Given the description of an element on the screen output the (x, y) to click on. 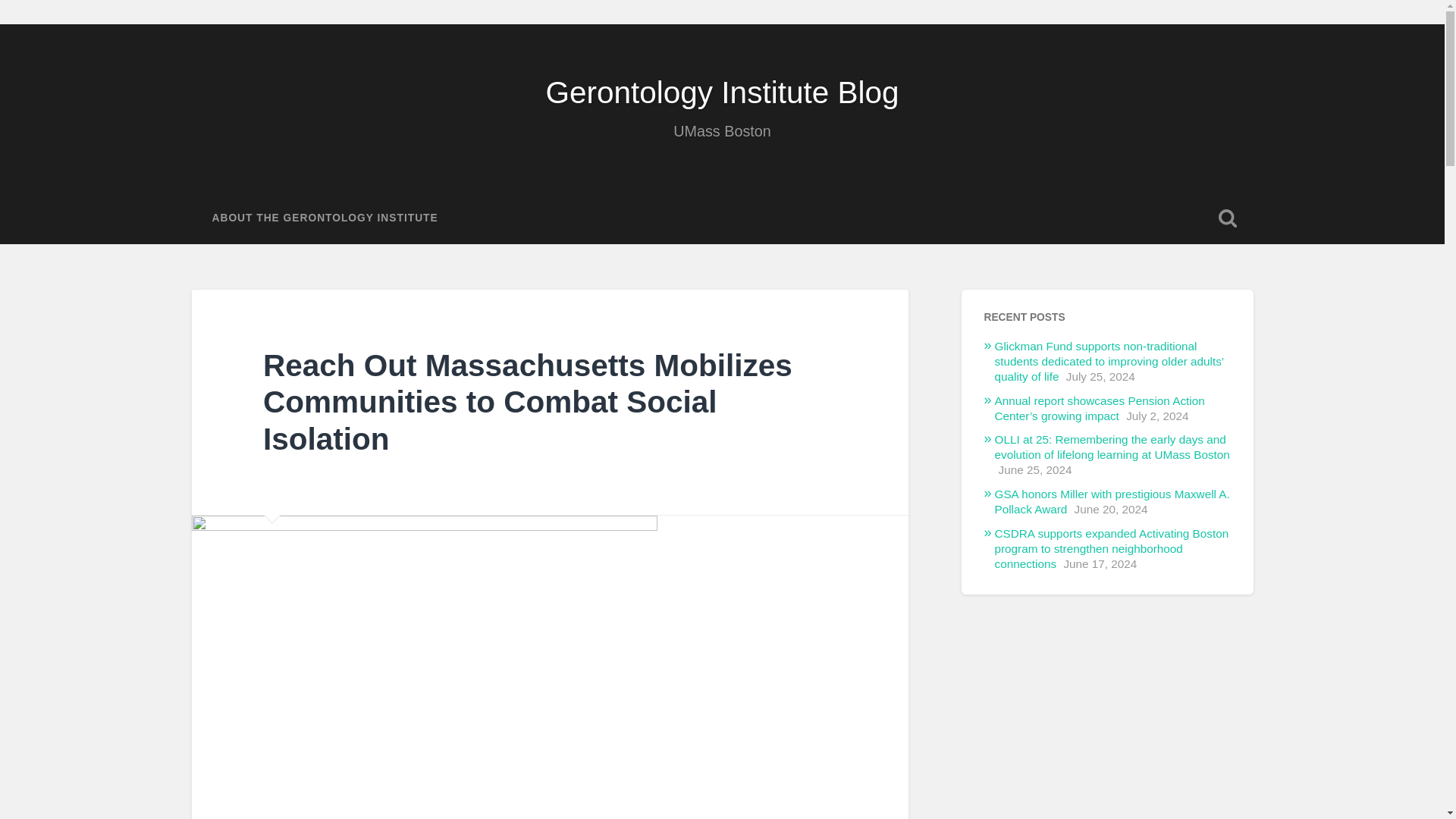
ABOUT THE GERONTOLOGY INSTITUTE (324, 218)
GSA honors Miller with prestigious Maxwell A. Pollack Award (1112, 501)
Gerontology Institute Blog (721, 92)
